Given the description of an element on the screen output the (x, y) to click on. 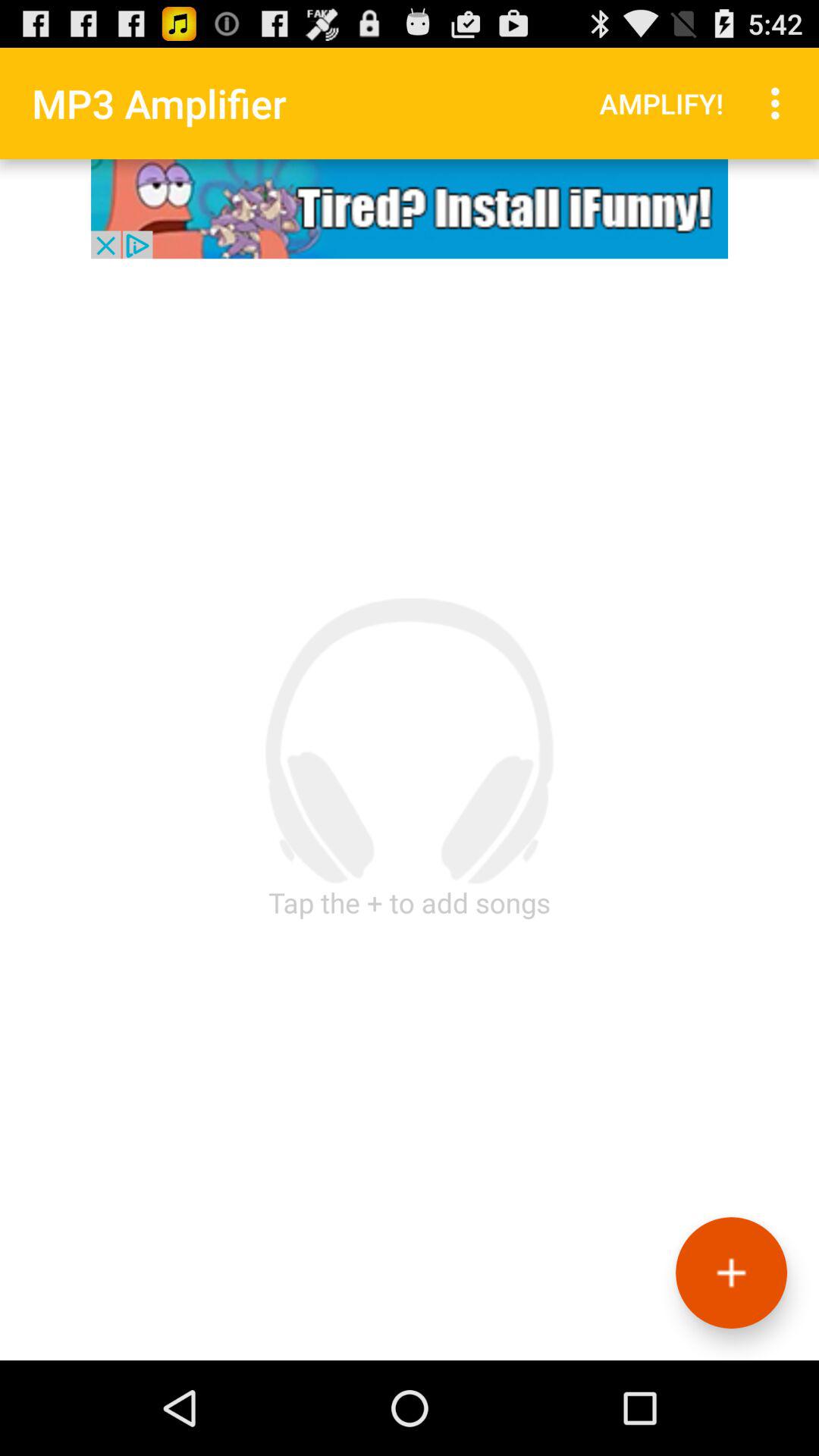
add icon (731, 1272)
